Given the description of an element on the screen output the (x, y) to click on. 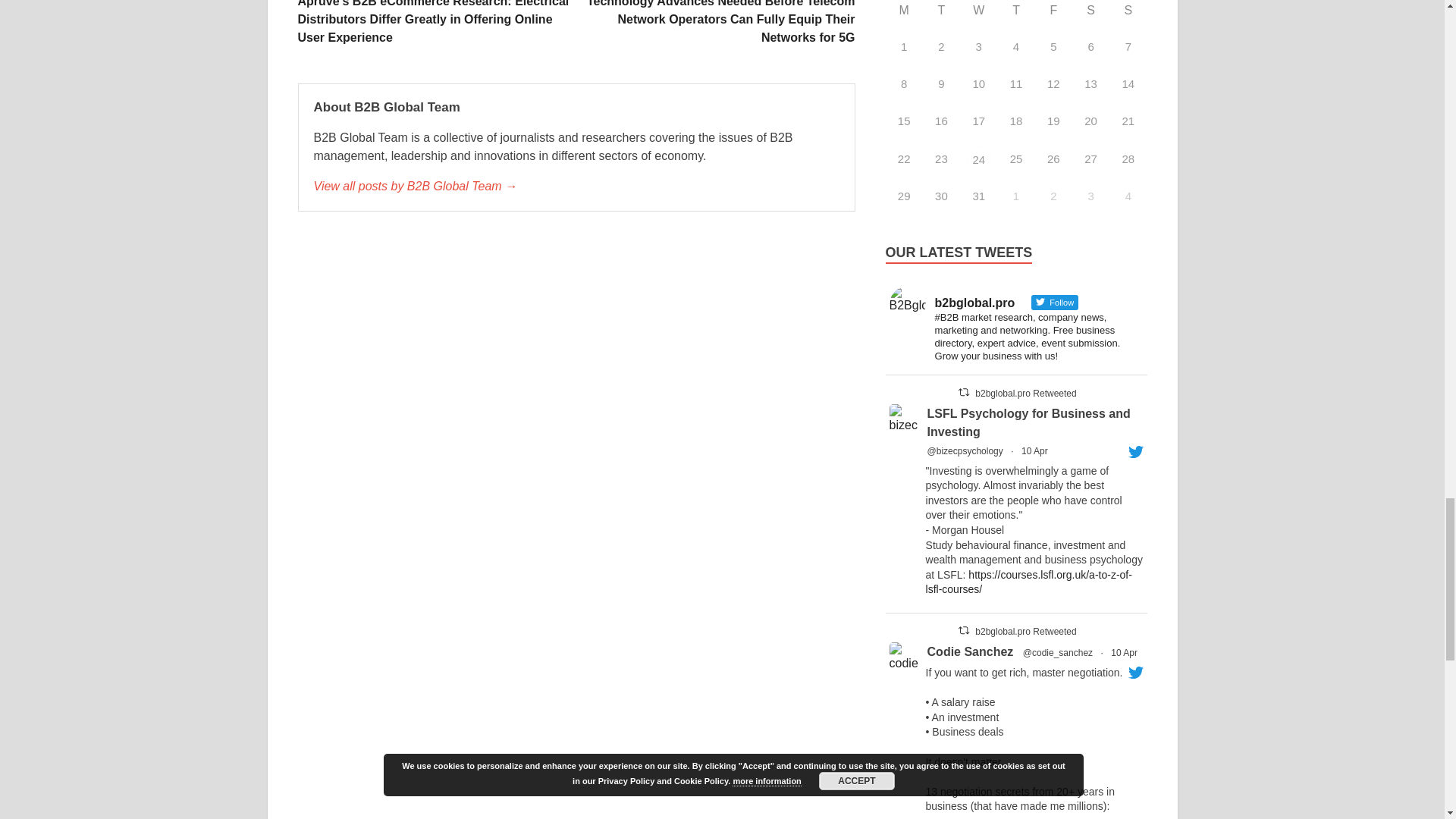
B2B Global Team (577, 186)
Do My Nursing Assignment for Me (978, 158)
